Given the description of an element on the screen output the (x, y) to click on. 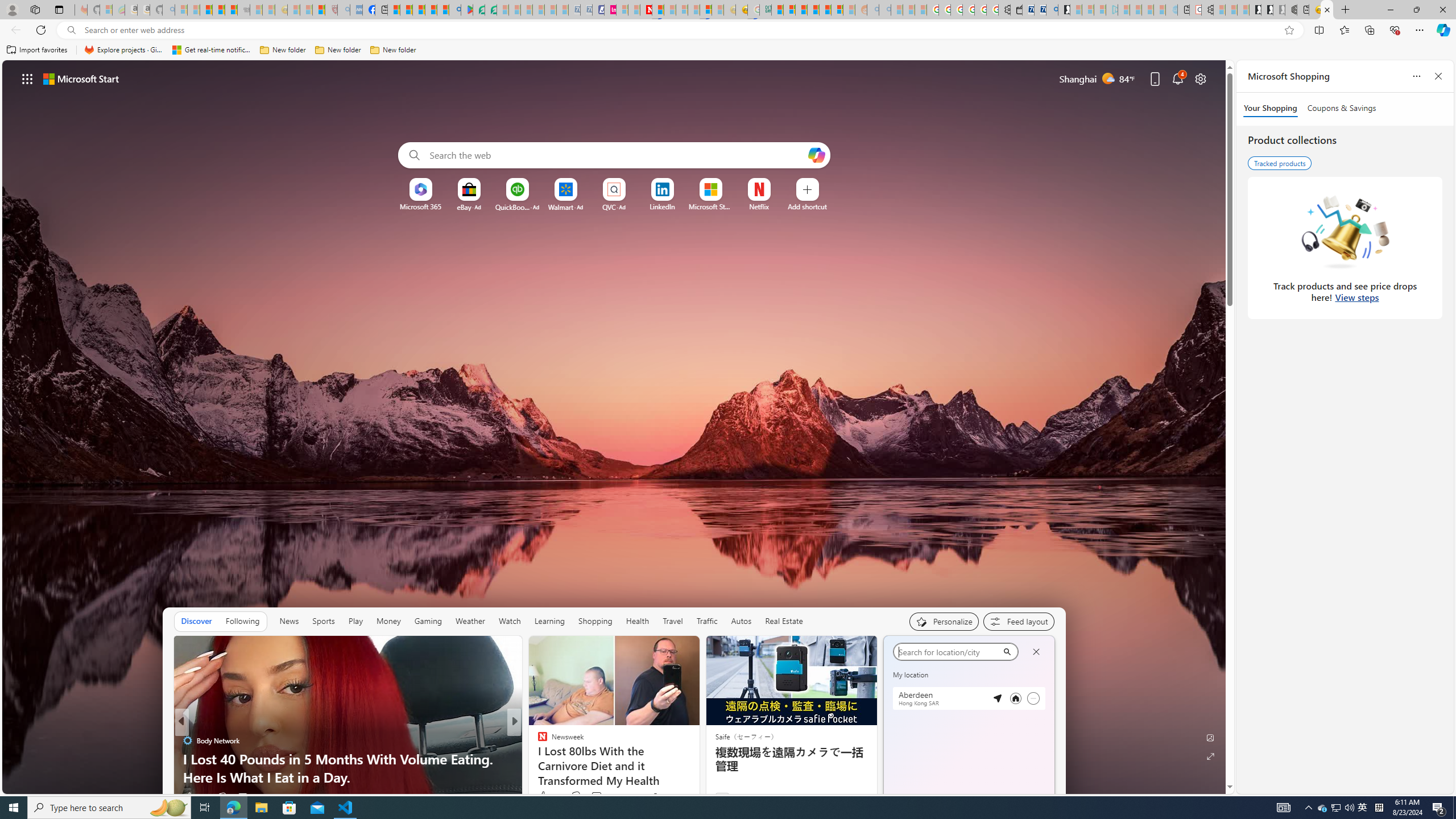
Daily (942, 703)
Class: weather-arrow-glyph (1043, 678)
365 Like (545, 796)
I Lost 45 Pounds and Kept It Off With These Simple Changes (697, 767)
383 Like (548, 795)
Learning (549, 621)
Jobs - lastminute.com Investor Portal (610, 9)
